Given the description of an element on the screen output the (x, y) to click on. 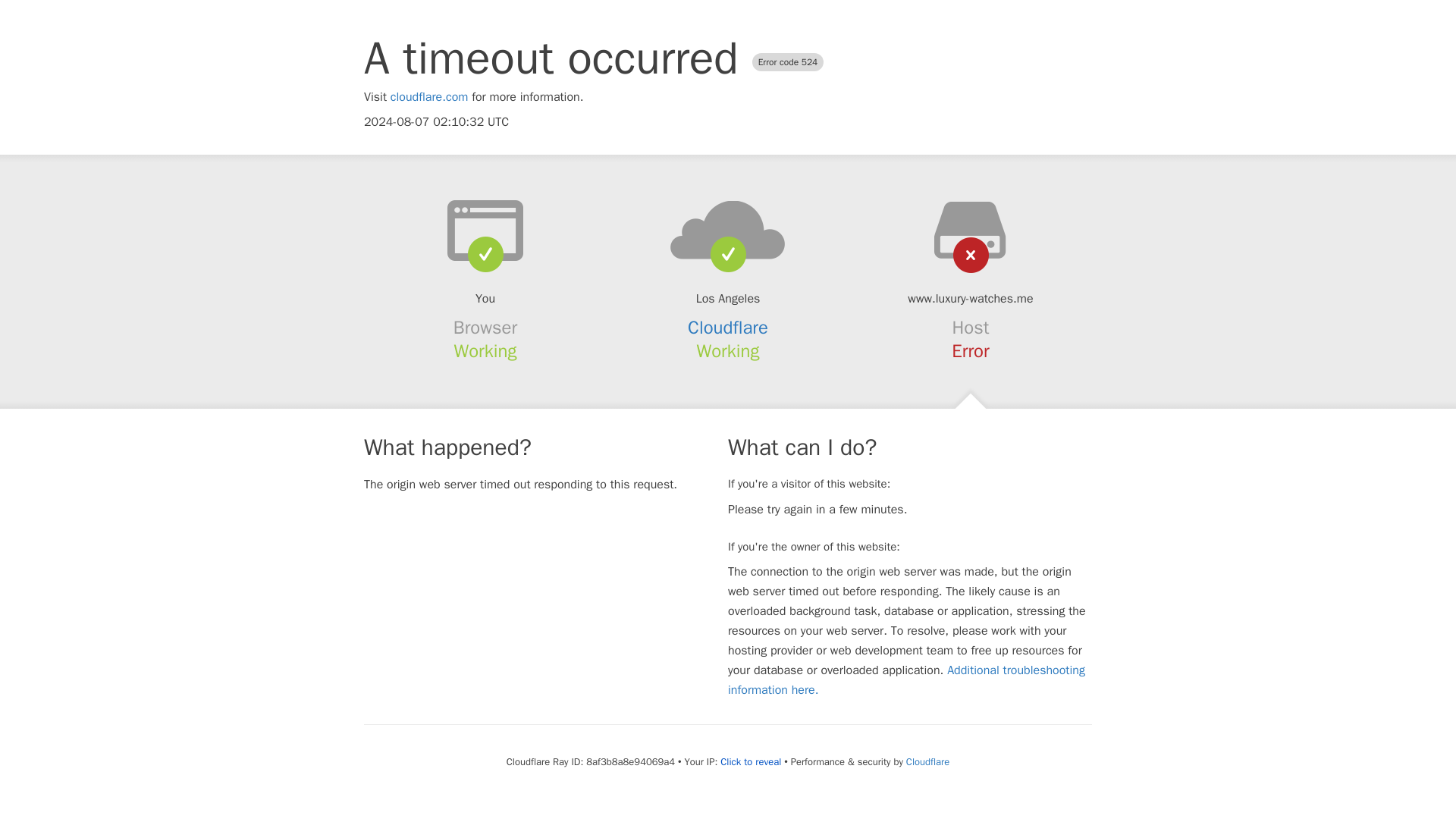
Additional troubleshooting information here. (906, 679)
Click to reveal (750, 762)
cloudflare.com (429, 96)
Cloudflare (727, 327)
Cloudflare (927, 761)
